Given the description of an element on the screen output the (x, y) to click on. 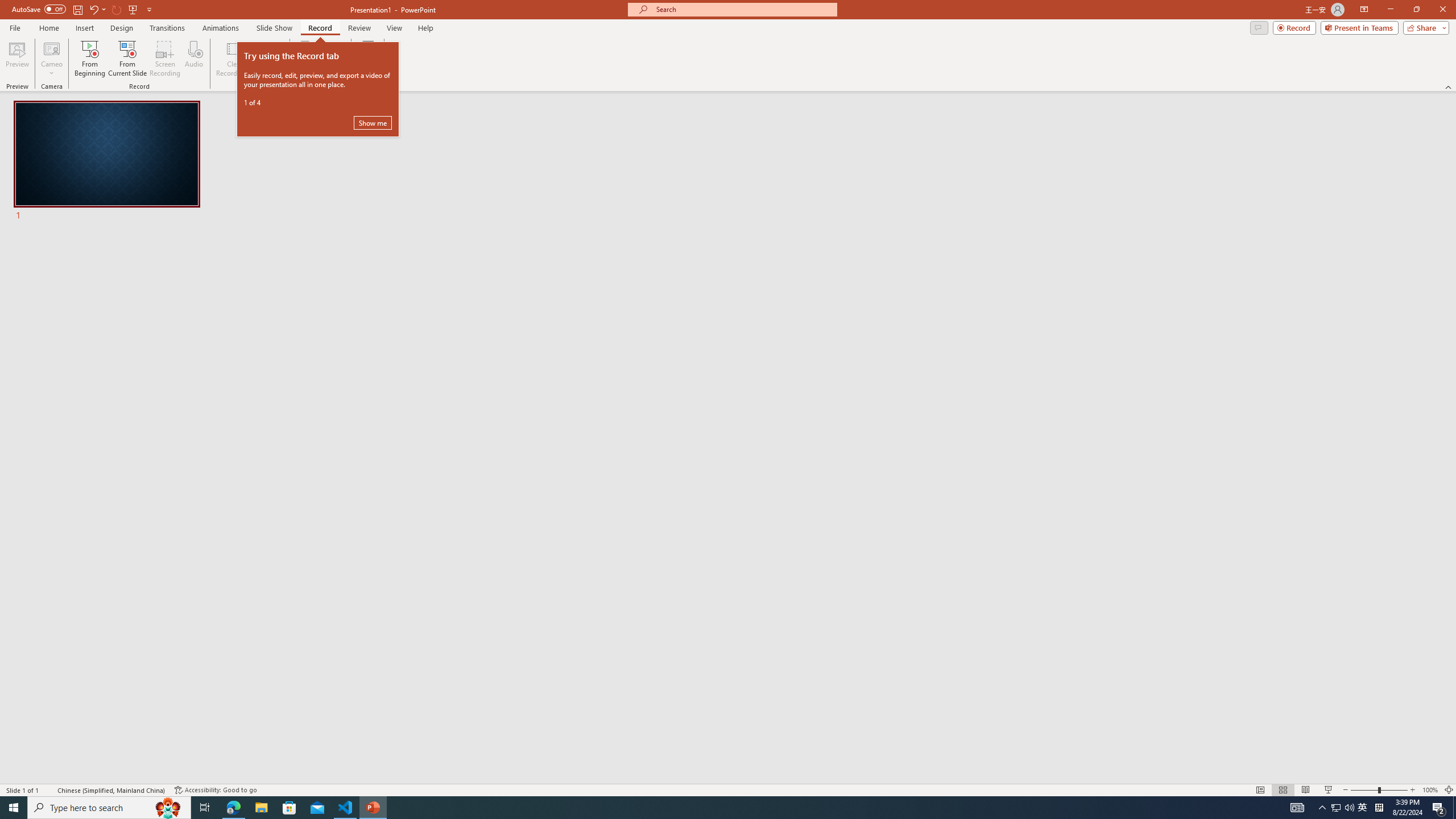
Export to Video (332, 58)
Reset to Cameo (269, 58)
Spell Check  (49, 790)
Zoom 100% (1430, 790)
